Given the description of an element on the screen output the (x, y) to click on. 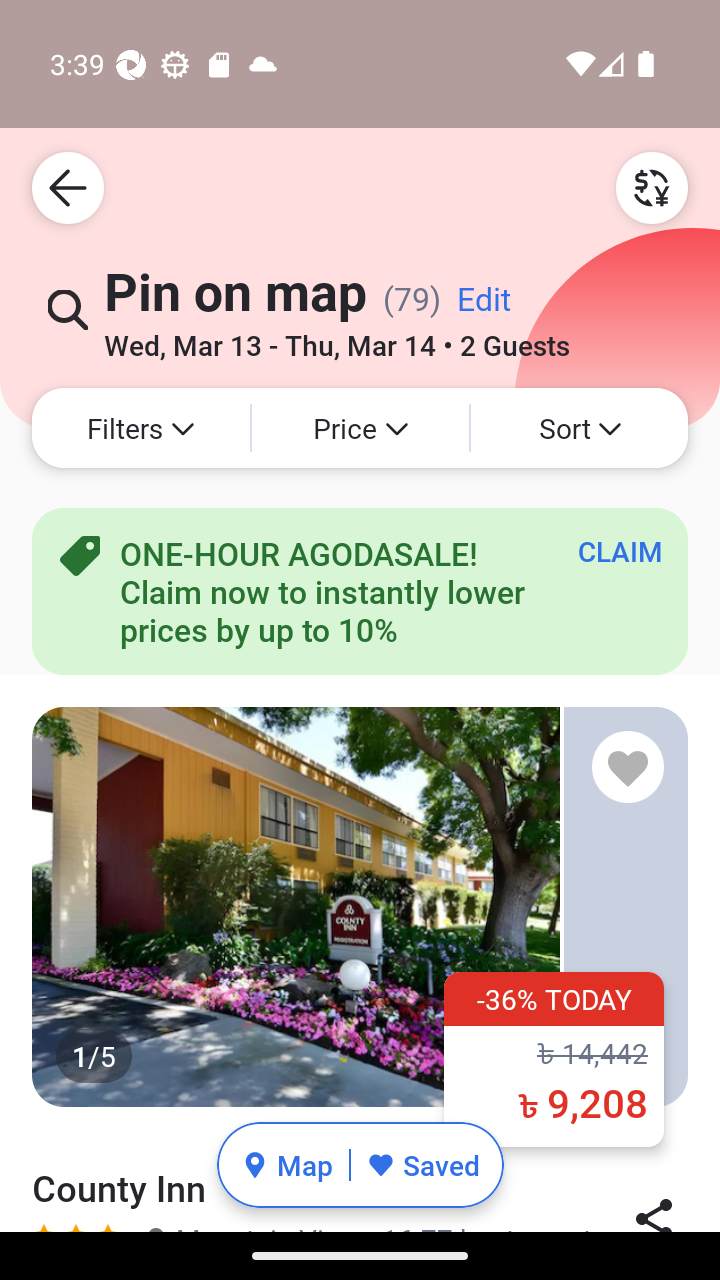
Wed, Mar 13 - Thu, Mar 14 • 2 Guests (336, 338)
Filters (140, 428)
Price (359, 428)
Sort (579, 428)
CLAIM (620, 551)
1/5 (359, 906)
-36% TODAY ‪৳ 14,442 ‪৳ 9,208 (553, 1058)
Map Saved (359, 1165)
